Given the description of an element on the screen output the (x, y) to click on. 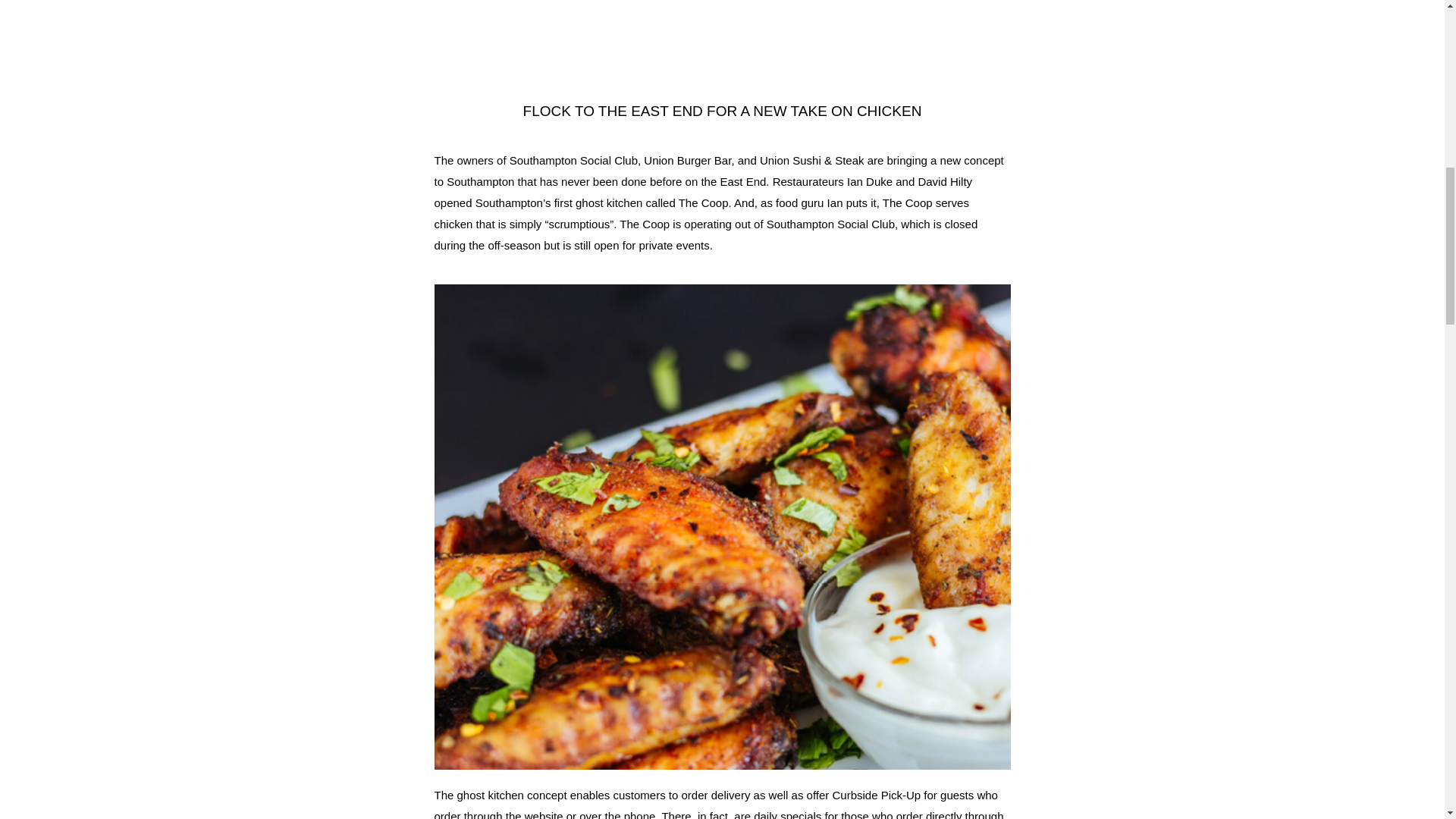
Thecoop (722, 31)
